Given the description of an element on the screen output the (x, y) to click on. 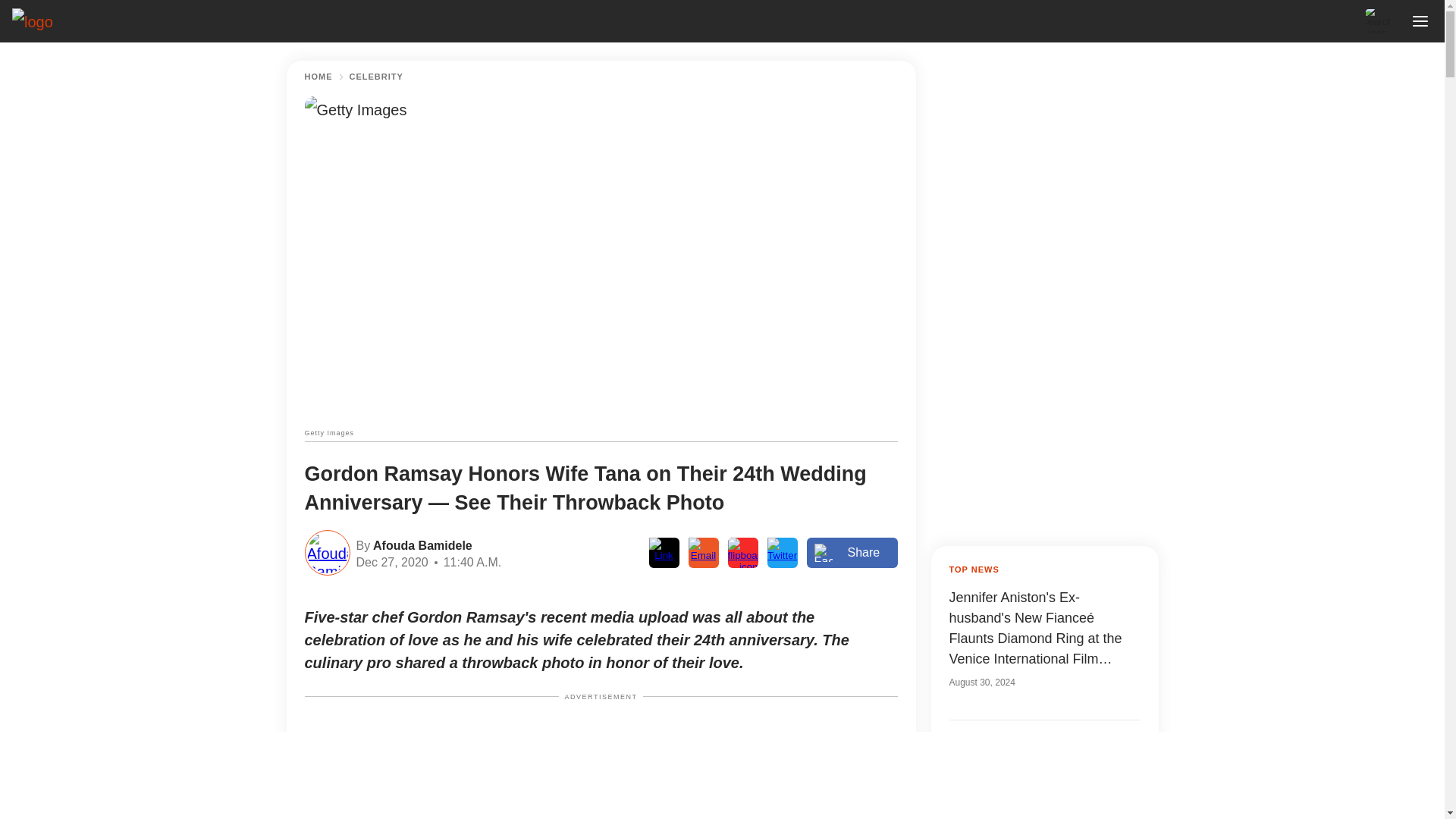
Afouda Bamidele (420, 544)
HOME (318, 76)
CELEBRITY (376, 76)
